Given the description of an element on the screen output the (x, y) to click on. 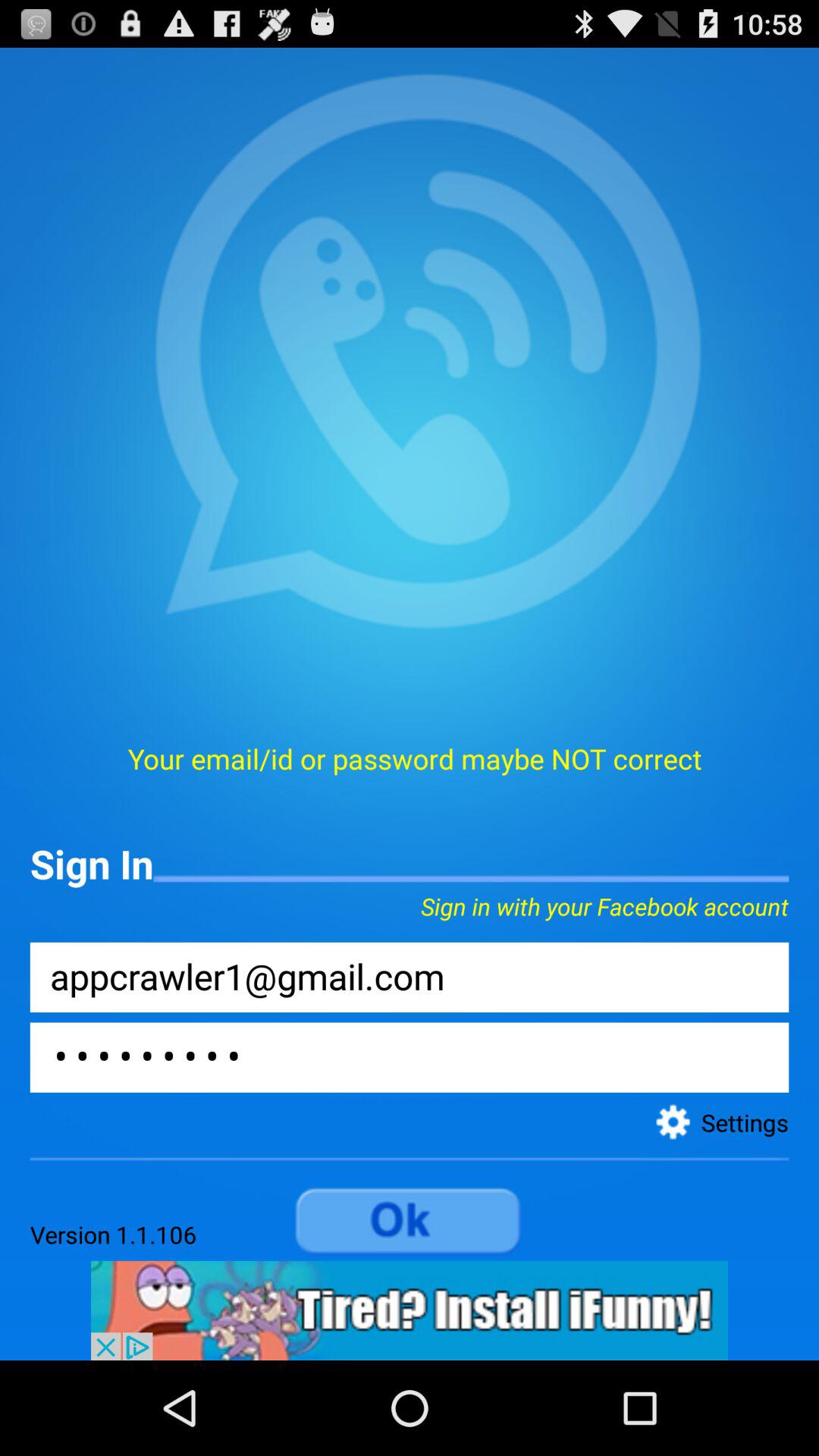
open email text box (409, 977)
